Given the description of an element on the screen output the (x, y) to click on. 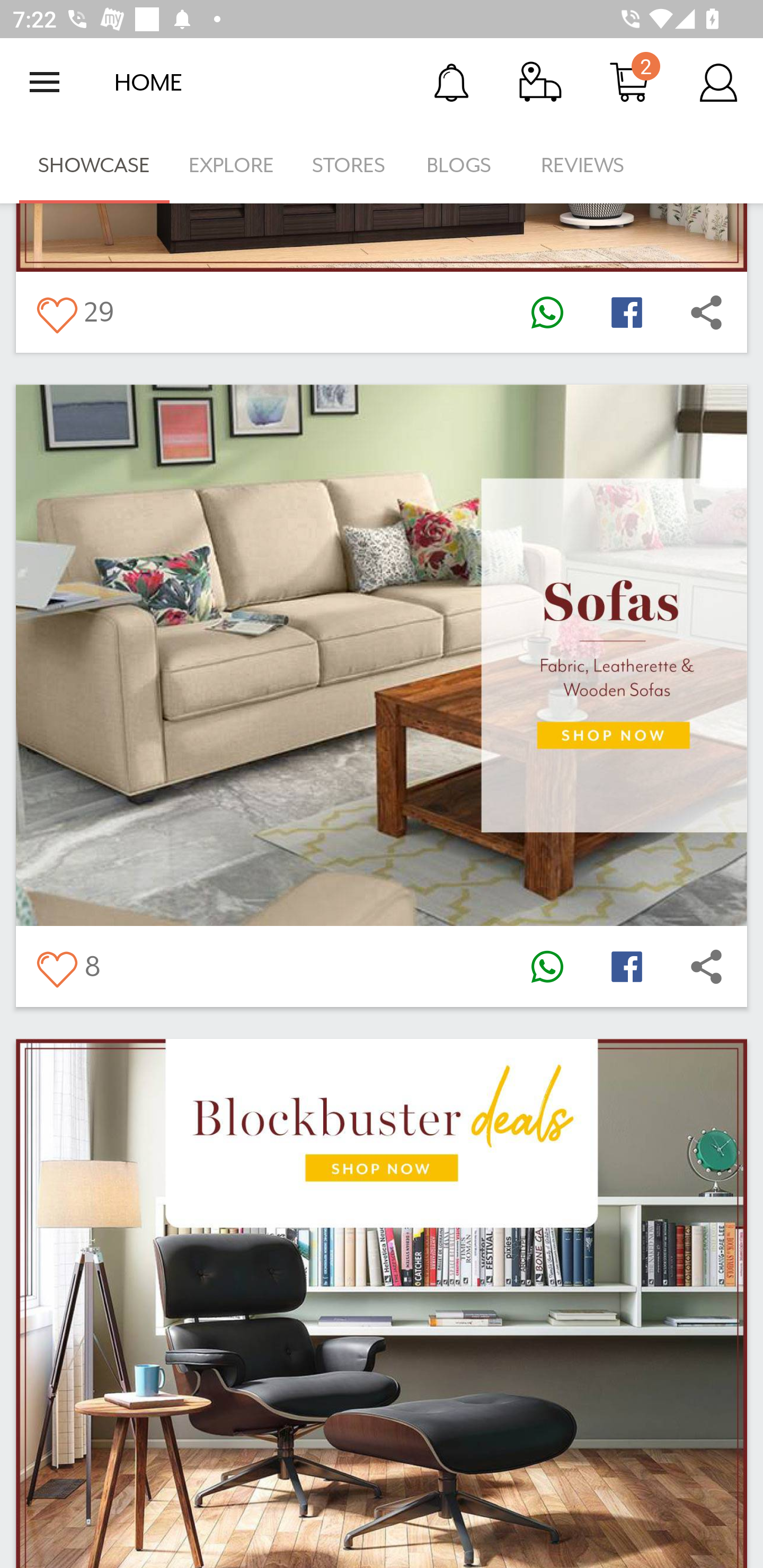
Open navigation drawer (44, 82)
Notification (450, 81)
Track Order (540, 81)
Cart (629, 81)
Account Details (718, 81)
SHOWCASE (94, 165)
EXPLORE (230, 165)
STORES (349, 165)
BLOGS (464, 165)
REVIEWS (582, 165)
 (55, 311)
 (547, 311)
 (626, 311)
 (706, 311)
 (55, 966)
 (547, 966)
 (626, 966)
 (706, 966)
